Given the description of an element on the screen output the (x, y) to click on. 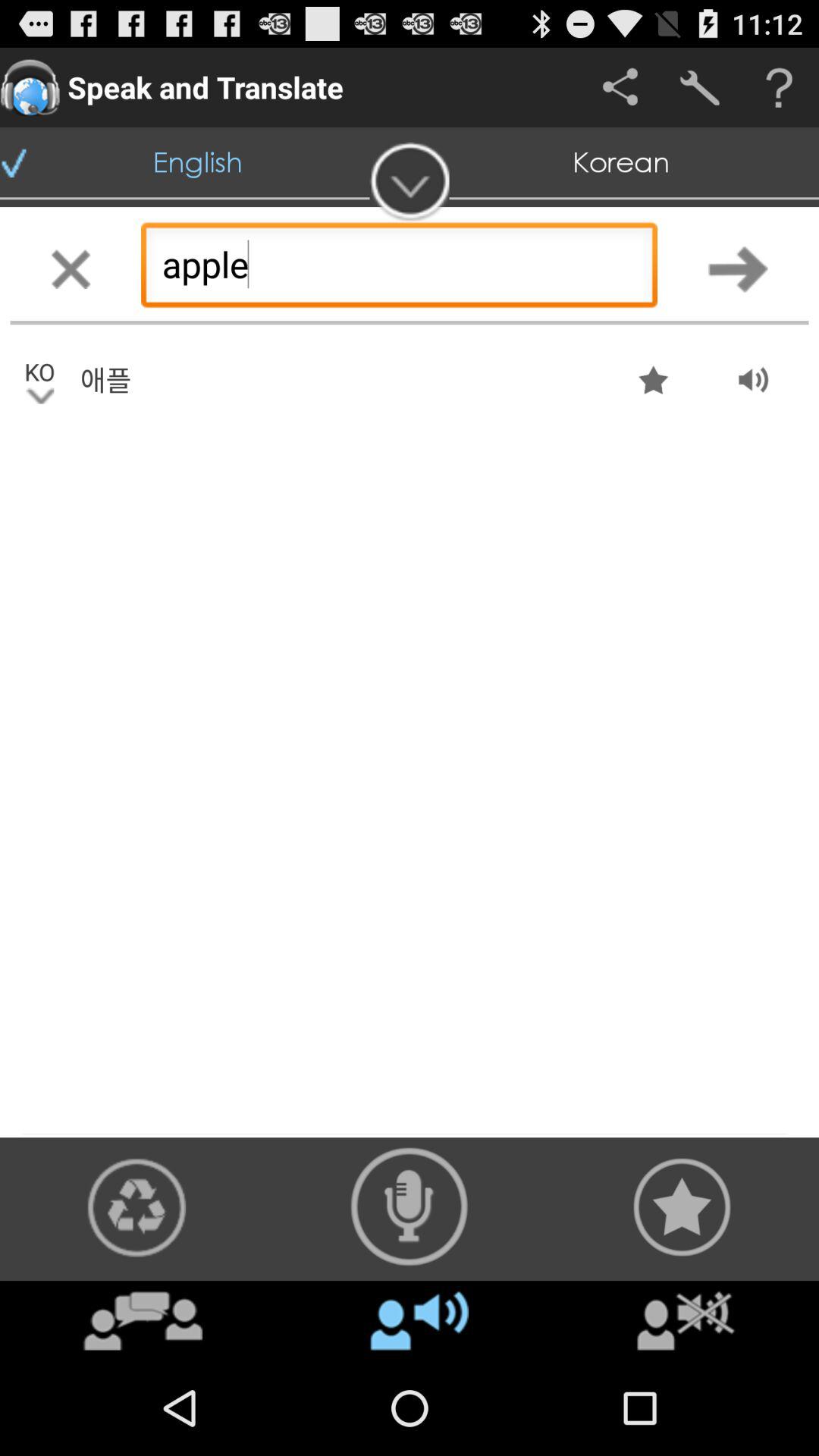
settings (699, 87)
